Given the description of an element on the screen output the (x, y) to click on. 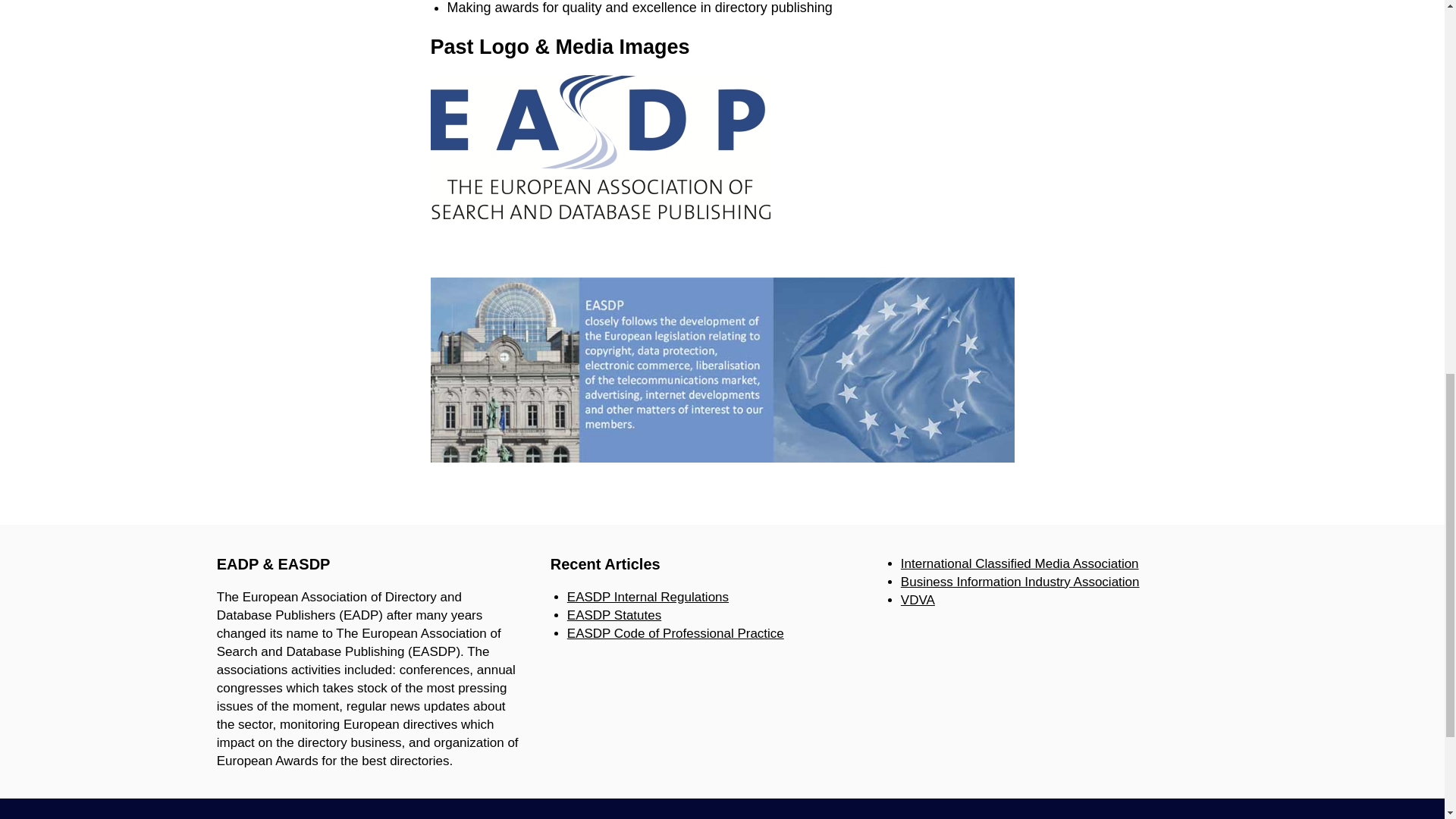
EASDP Internal Regulations (648, 596)
Business Information Industry Association (1020, 581)
International Classified Media Association (1019, 563)
EASDP Code of Professional Practice (675, 633)
EASDP Statutes (614, 615)
VDVA (917, 599)
